Given the description of an element on the screen output the (x, y) to click on. 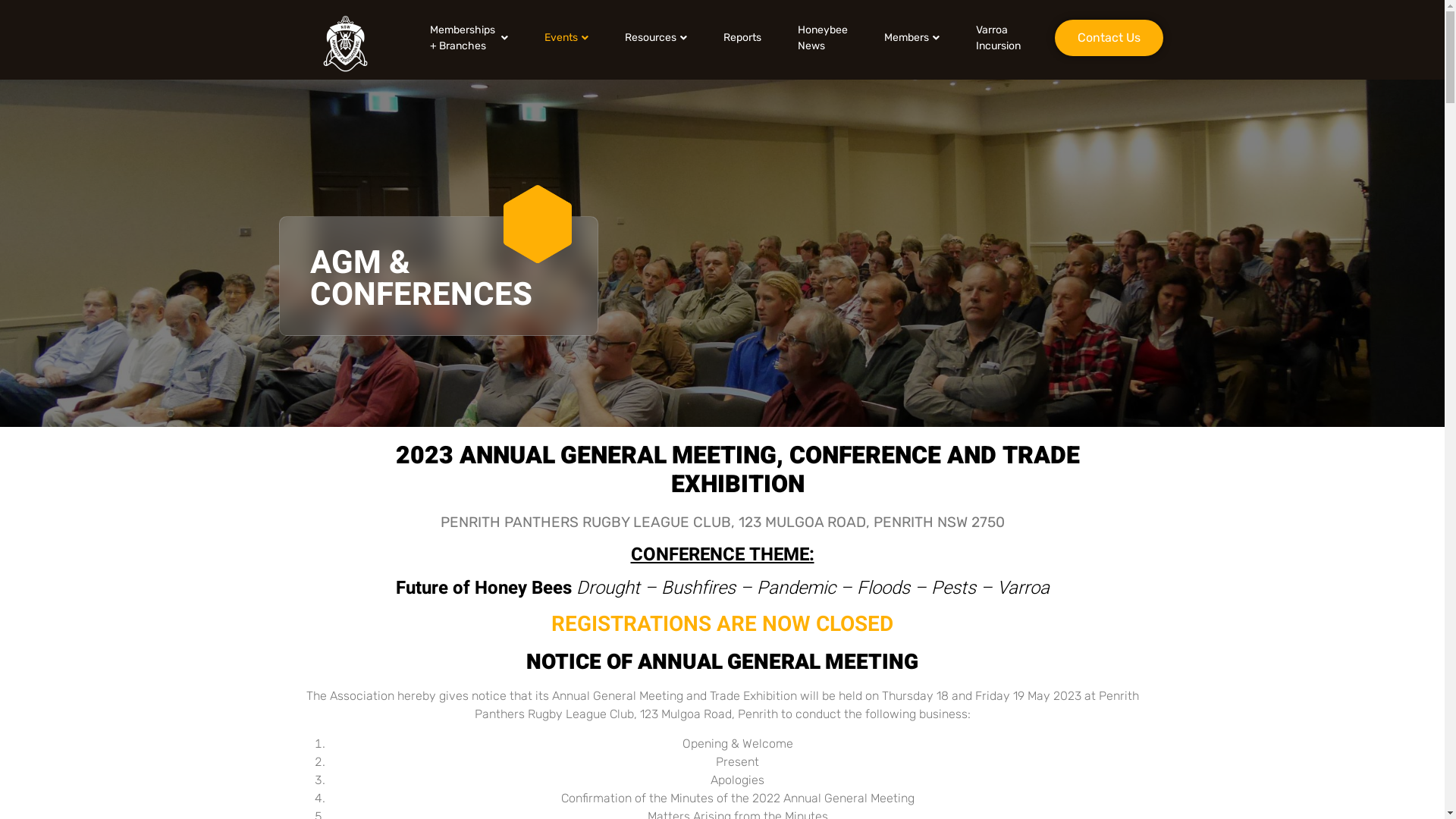
Honeybee News Element type: text (822, 37)
Resources Element type: text (655, 37)
Contact Us Element type: text (1108, 37)
Members Element type: text (911, 37)
Varroa Incursion Element type: text (997, 37)
Reports Element type: text (742, 37)
Events Element type: text (566, 37)
Memberships + Branches Element type: text (468, 37)
